Given the description of an element on the screen output the (x, y) to click on. 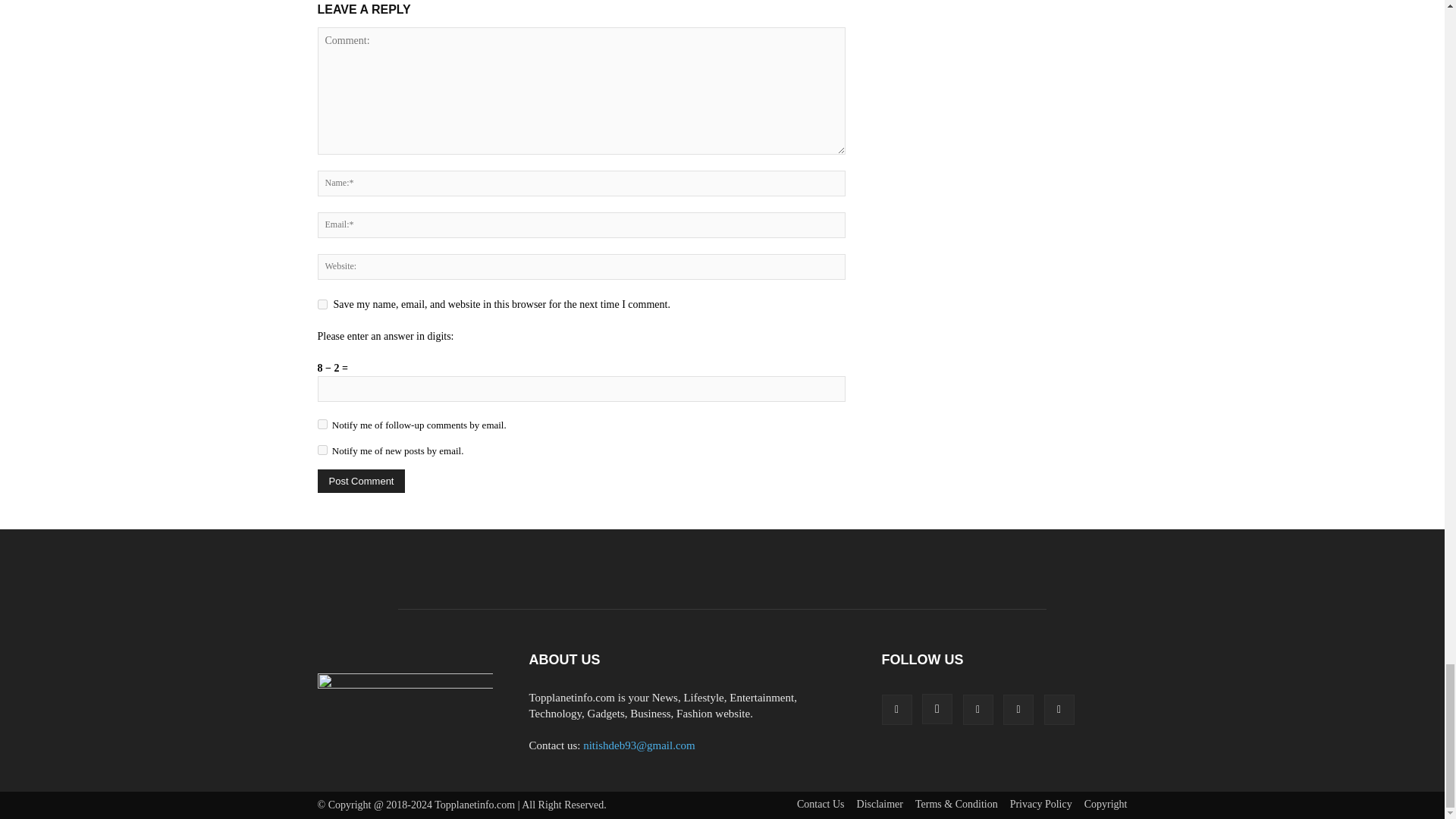
yes (321, 304)
Post Comment (360, 481)
subscribe (321, 424)
subscribe (321, 450)
